Given the description of an element on the screen output the (x, y) to click on. 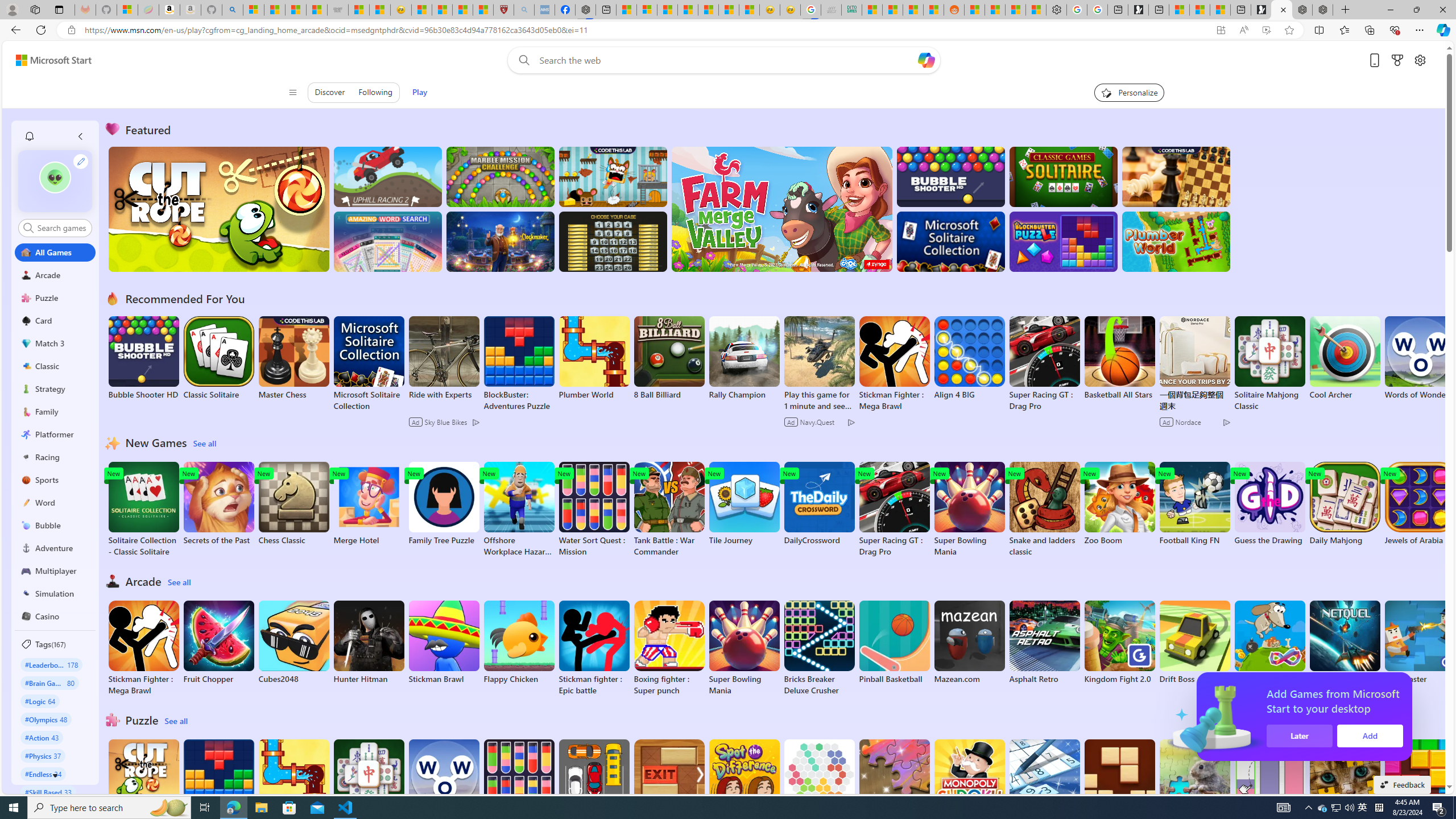
Asphalt Retro (1044, 642)
DailyCrossword (818, 503)
Hunter Hitman (368, 642)
These 3 Stocks Pay You More Than 5% to Own Them (1219, 9)
Jewels of Arabia (1420, 503)
Hungry Dog FRVR (1269, 642)
Super Racing GT : Drag Pro (894, 509)
Family Tree Puzzle (443, 503)
Bubble Shooter HD (143, 358)
